Given the description of an element on the screen output the (x, y) to click on. 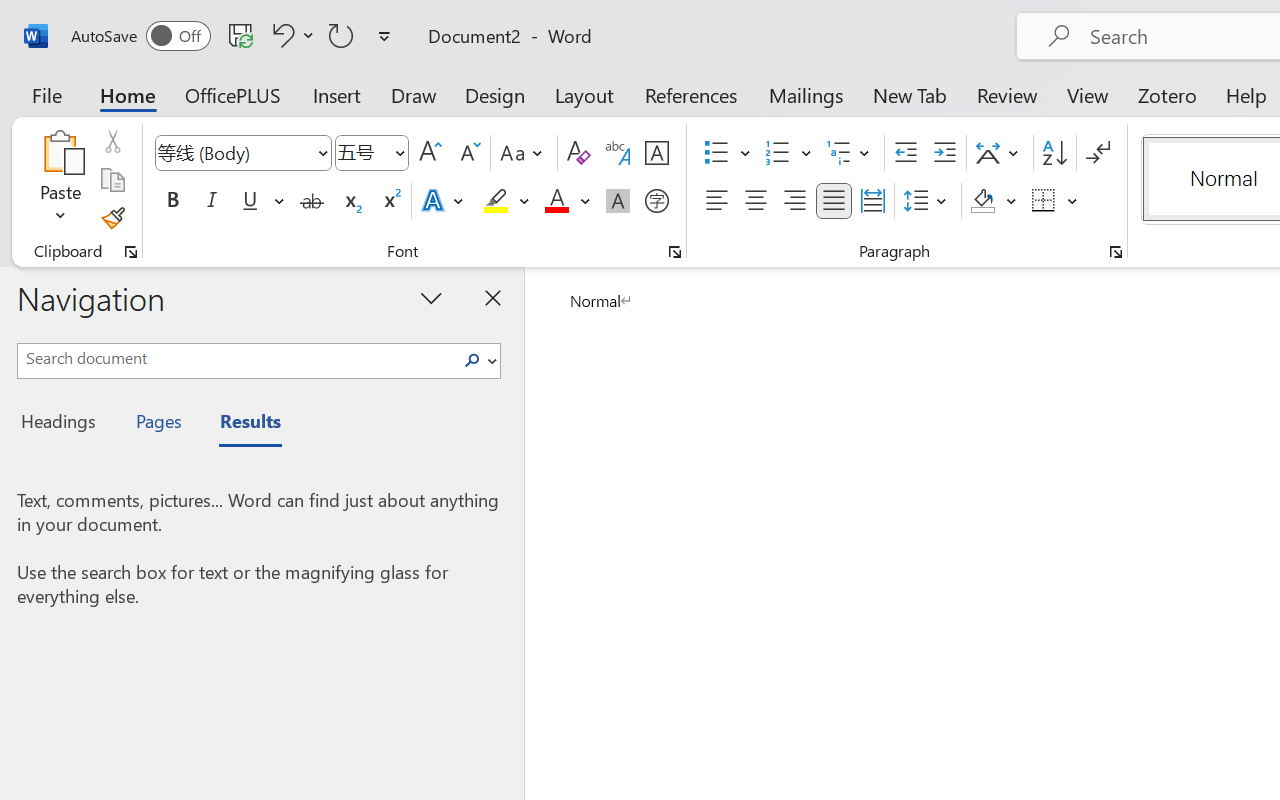
Increase Indent (944, 153)
Character Shading (618, 201)
Character Border (656, 153)
Quick Access Toolbar (233, 36)
Center (756, 201)
Search document (236, 358)
Subscript (350, 201)
Distributed (872, 201)
Search (471, 360)
